Given the description of an element on the screen output the (x, y) to click on. 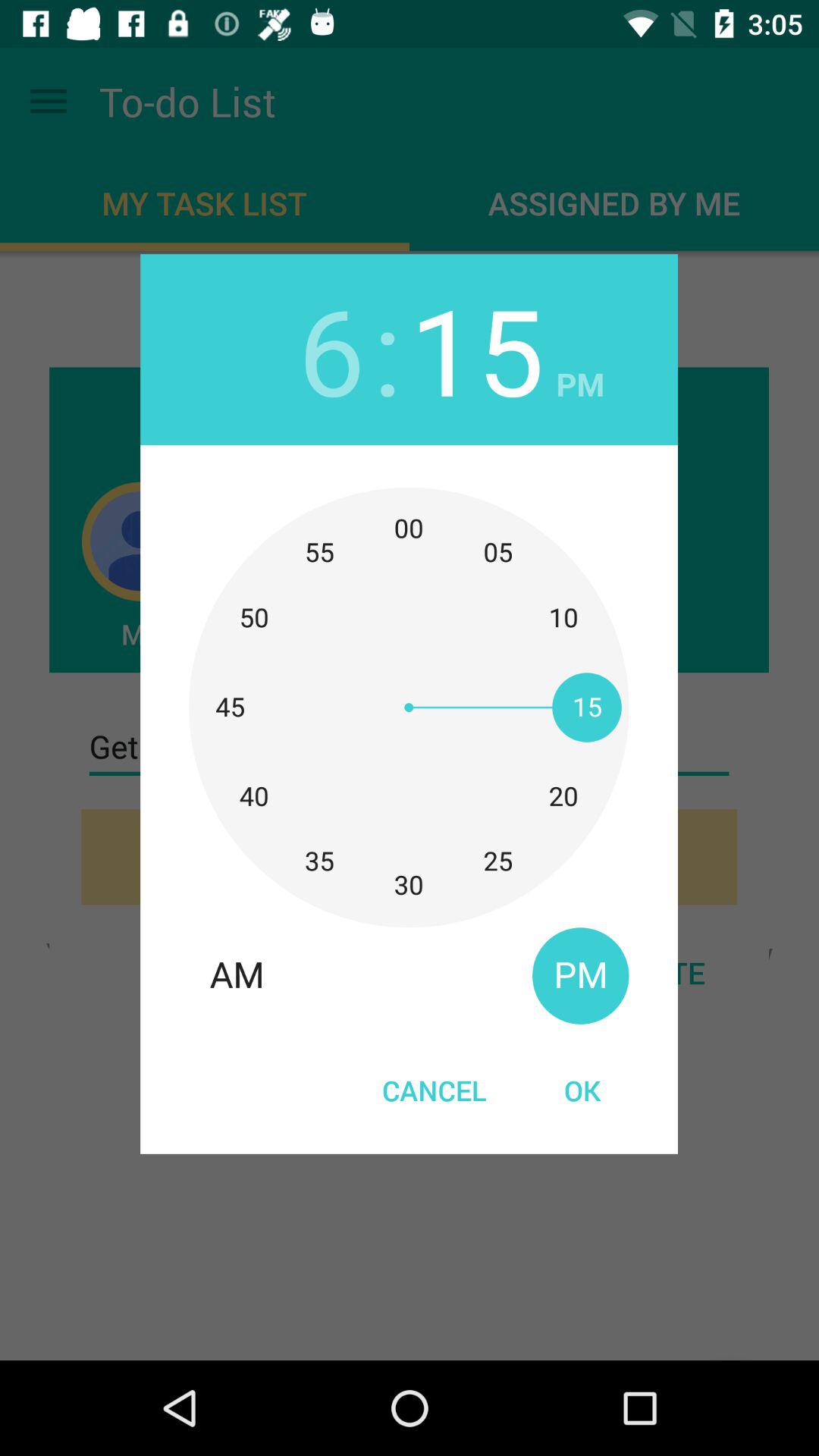
choose the 6 item (331, 349)
